Given the description of an element on the screen output the (x, y) to click on. 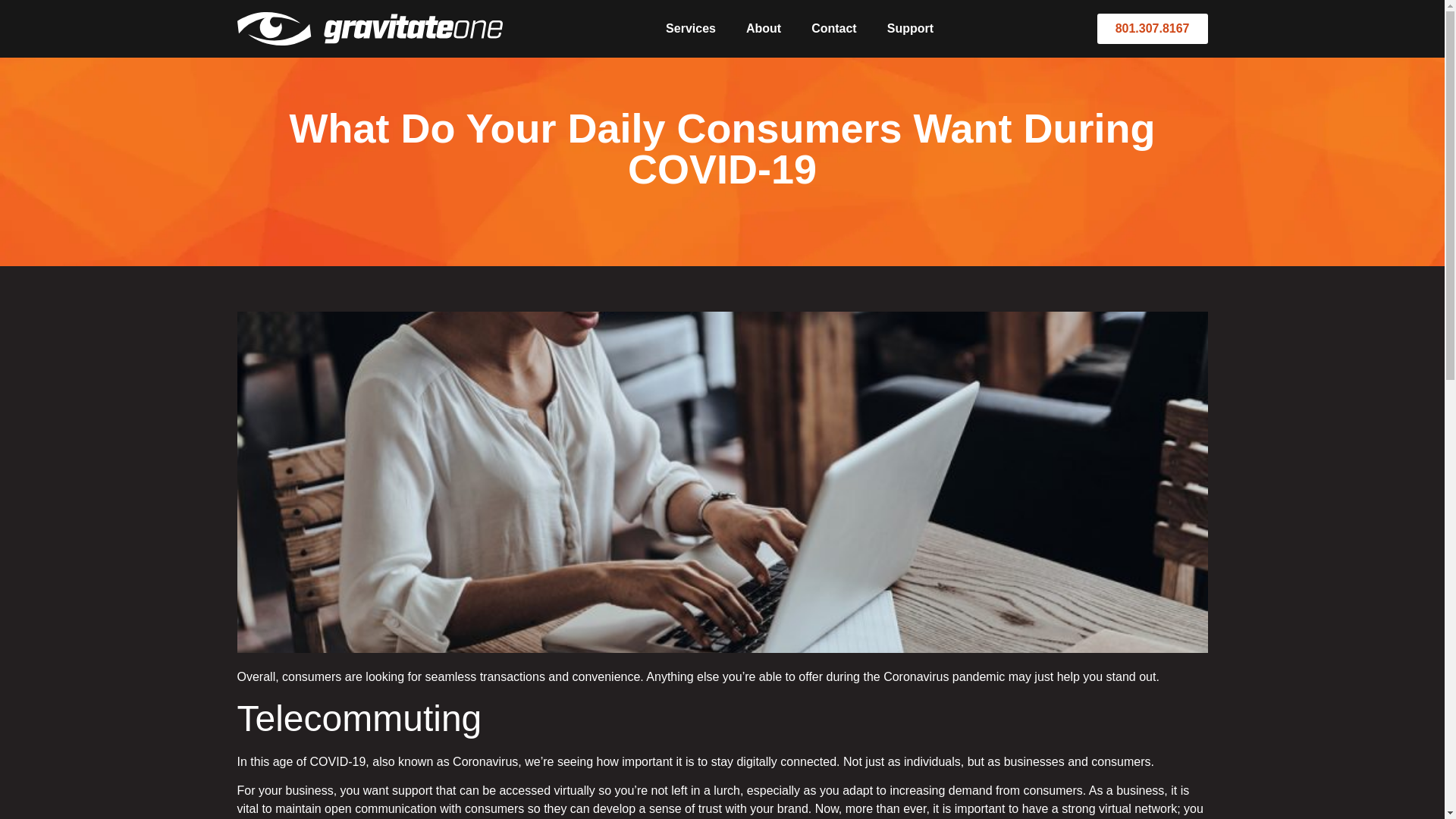
Contact (834, 28)
Support (910, 28)
About (763, 28)
Services (690, 28)
801.307.8167 (1152, 28)
